Given the description of an element on the screen output the (x, y) to click on. 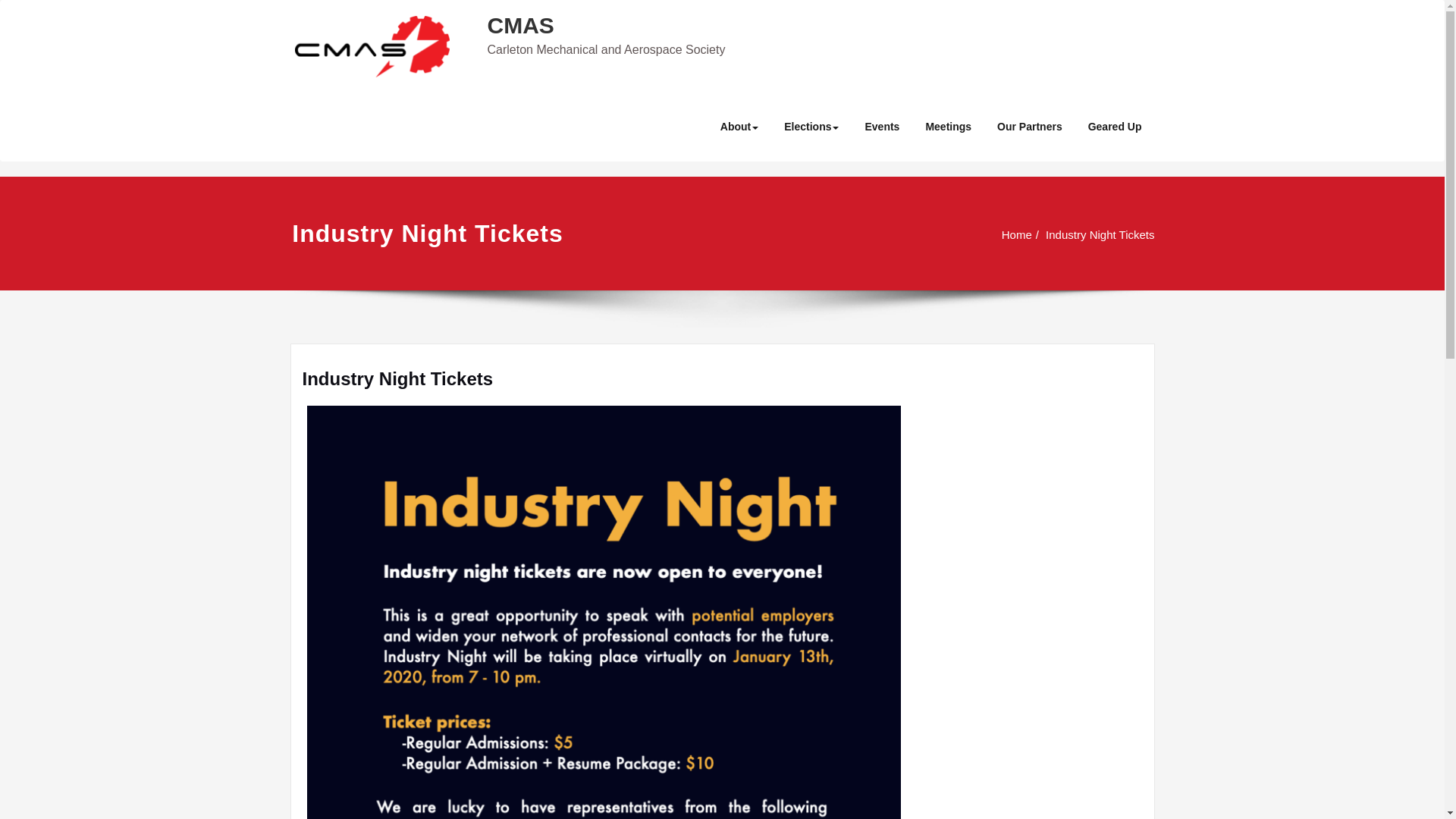
Meetings (948, 126)
CMAS (519, 25)
Elections (811, 126)
Home (993, 234)
Our Partners (1029, 126)
Geared Up (1114, 126)
About (739, 126)
Industry Night Tickets (1079, 234)
